Given the description of an element on the screen output the (x, y) to click on. 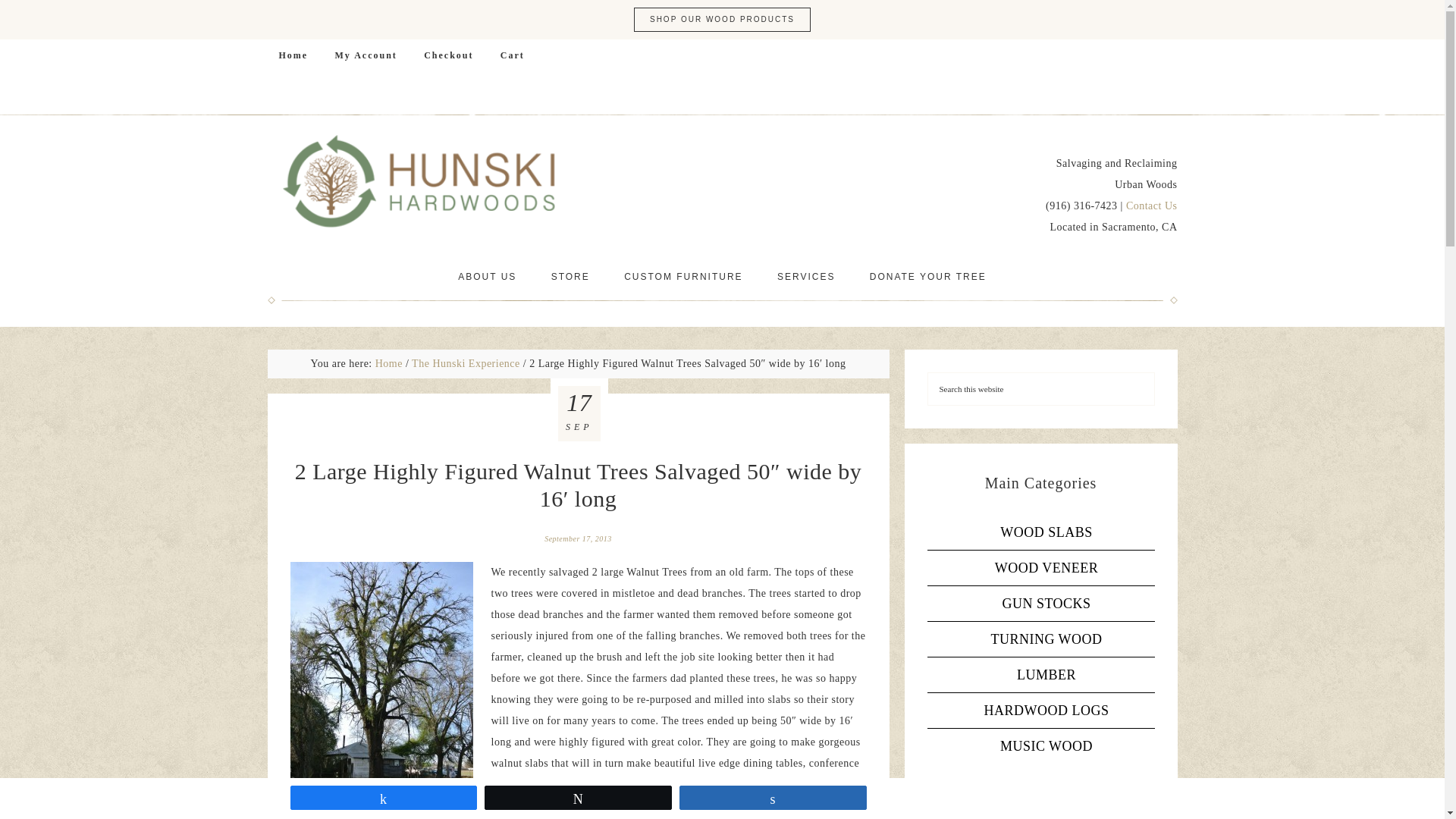
SHOP OUR WOOD PRODUCTS (721, 19)
The Hunski Experience (465, 363)
CUSTOM FURNITURE (682, 276)
Home (389, 363)
SALVAGING AND RECLAIMING URBAN WOODS (418, 181)
STORE (570, 276)
Home (292, 55)
Cart (512, 55)
Contact Us (1151, 205)
SERVICES (805, 276)
DONATE YOUR TREE (927, 276)
custom tables and more (682, 276)
My Account (365, 55)
